Given the description of an element on the screen output the (x, y) to click on. 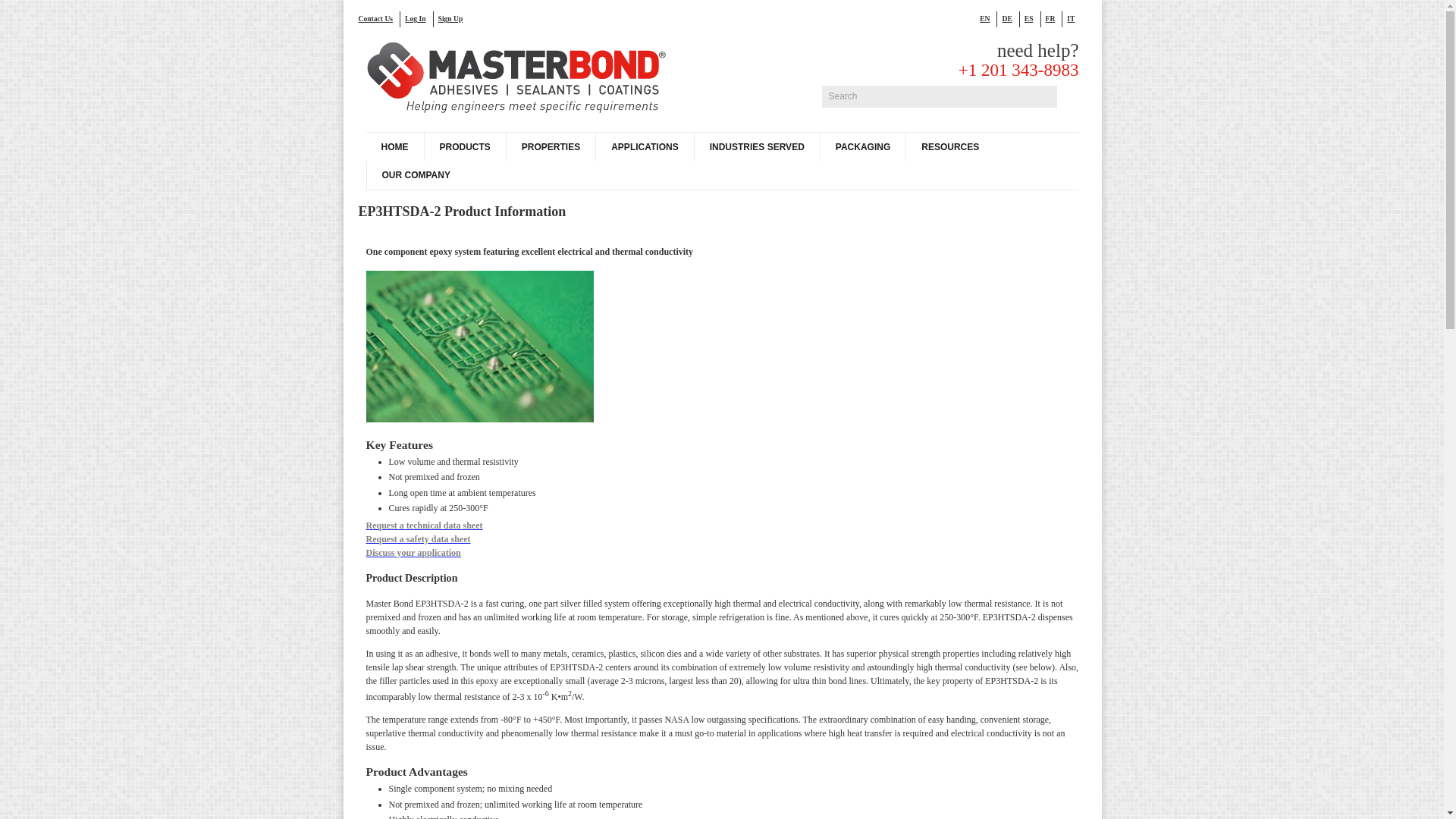
HOME (394, 146)
ES (1033, 18)
Search (939, 96)
PRODUCTS (464, 146)
EN (988, 18)
IT (1074, 18)
DE (1010, 18)
Sign Up (454, 18)
Log In (418, 18)
PROPERTIES (550, 146)
